Given the description of an element on the screen output the (x, y) to click on. 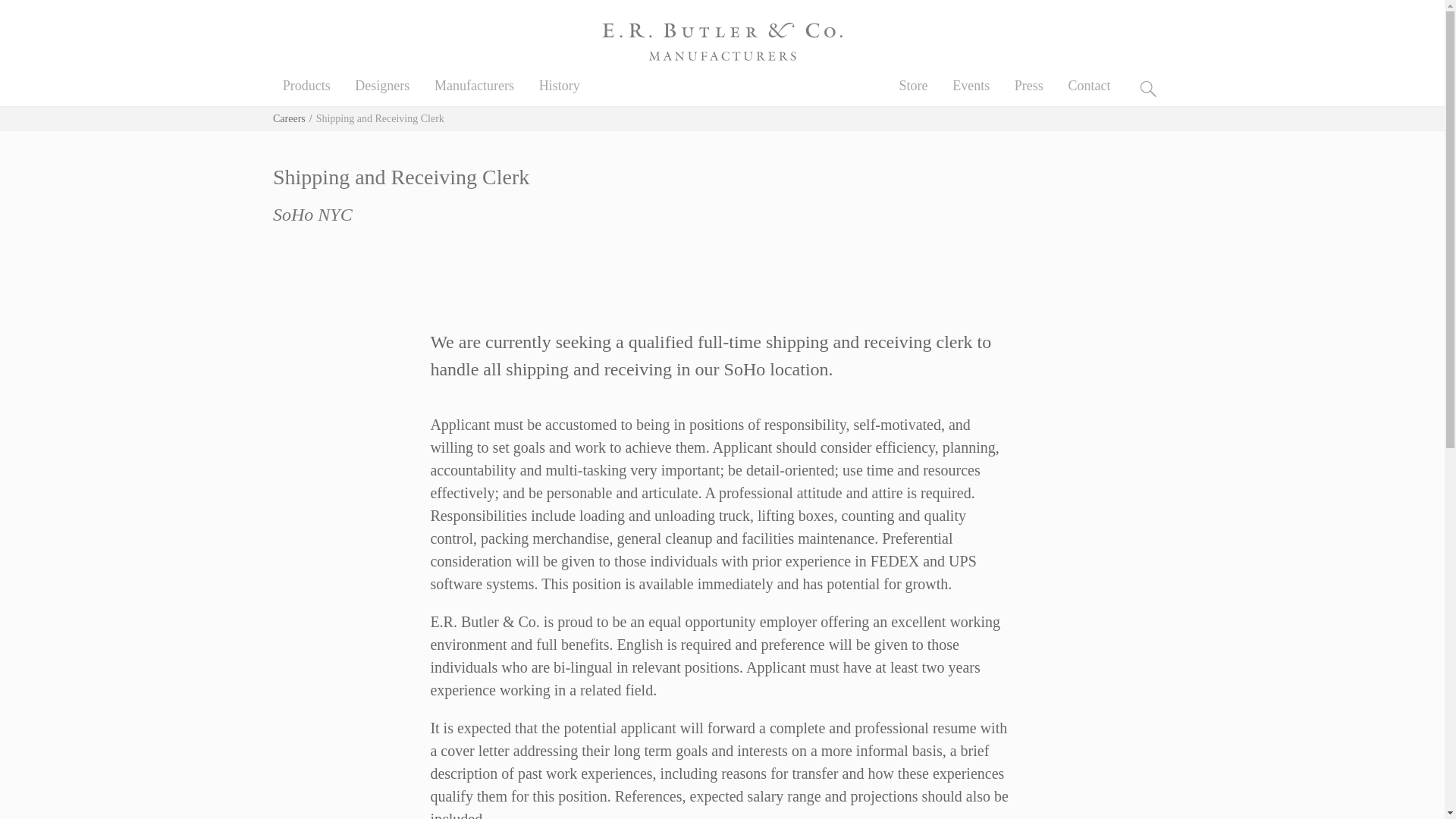
Products (306, 85)
Events (971, 85)
History (558, 85)
Designers (382, 85)
Manufacturers (473, 85)
Contact (1088, 85)
Press (1028, 85)
Careers (289, 118)
Store (912, 85)
